Given the description of an element on the screen output the (x, y) to click on. 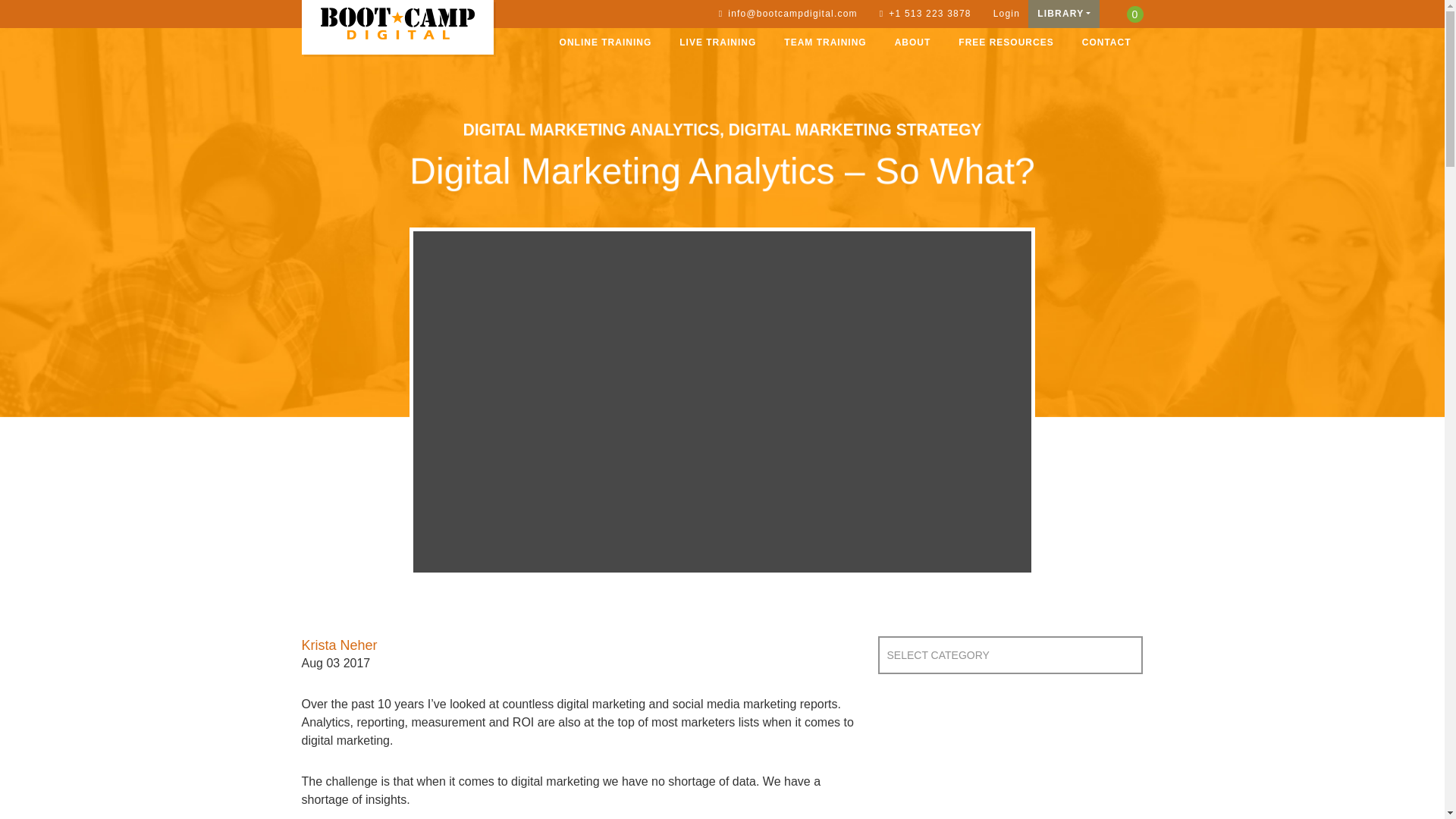
Login (1004, 13)
Boot Camp Digital (397, 23)
LIBRARY (1063, 13)
